Given the description of an element on the screen output the (x, y) to click on. 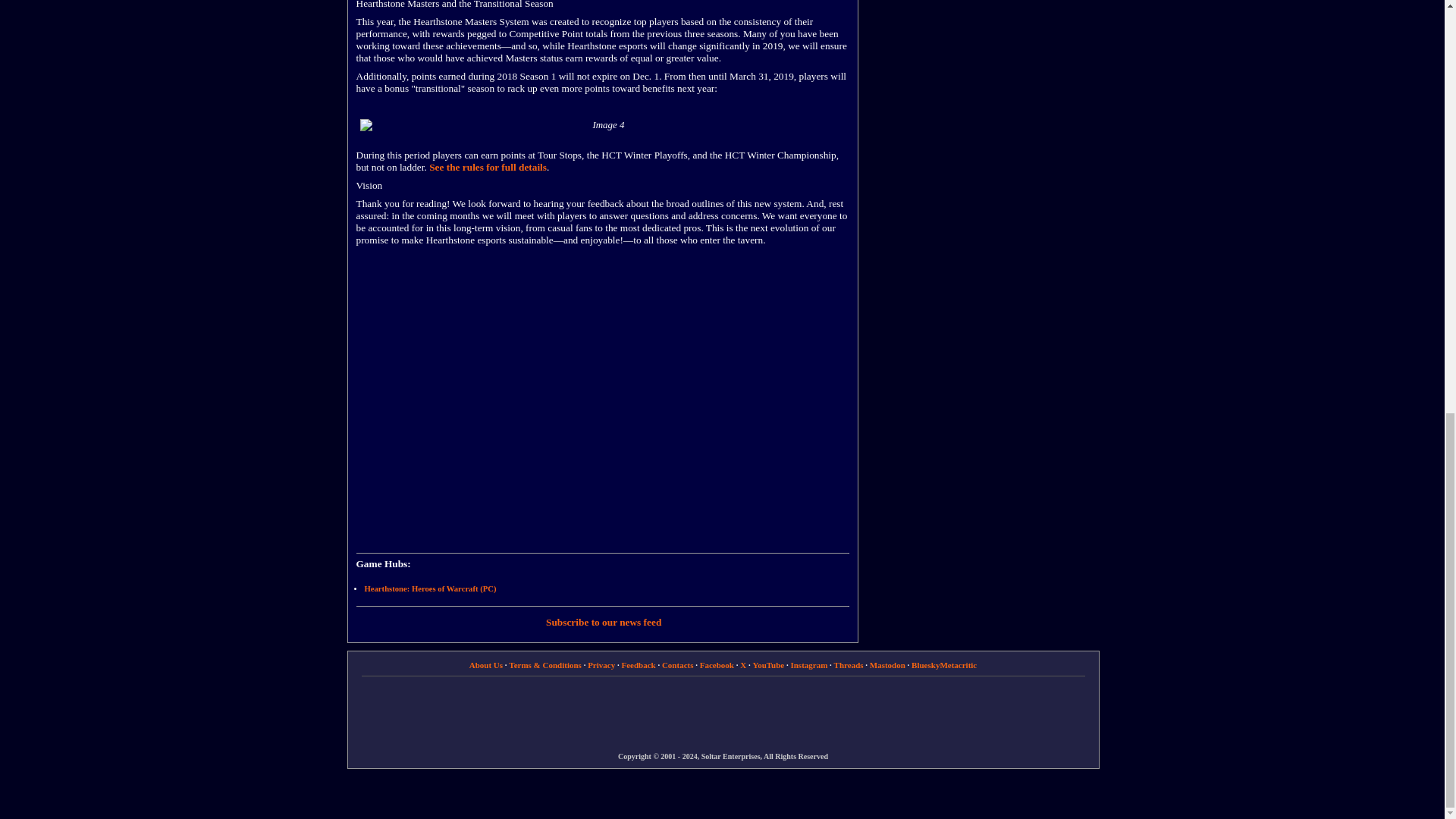
Threads (848, 664)
Instagram (808, 664)
About Us (485, 664)
See the rules for full details (488, 166)
Bluesky (925, 664)
YouTube (768, 664)
Metacritic (957, 664)
Feedback (638, 664)
Privacy (601, 664)
Subscribe to our news feed (603, 622)
Contacts (678, 664)
Mastodon (887, 664)
Facebook (716, 664)
